Given the description of an element on the screen output the (x, y) to click on. 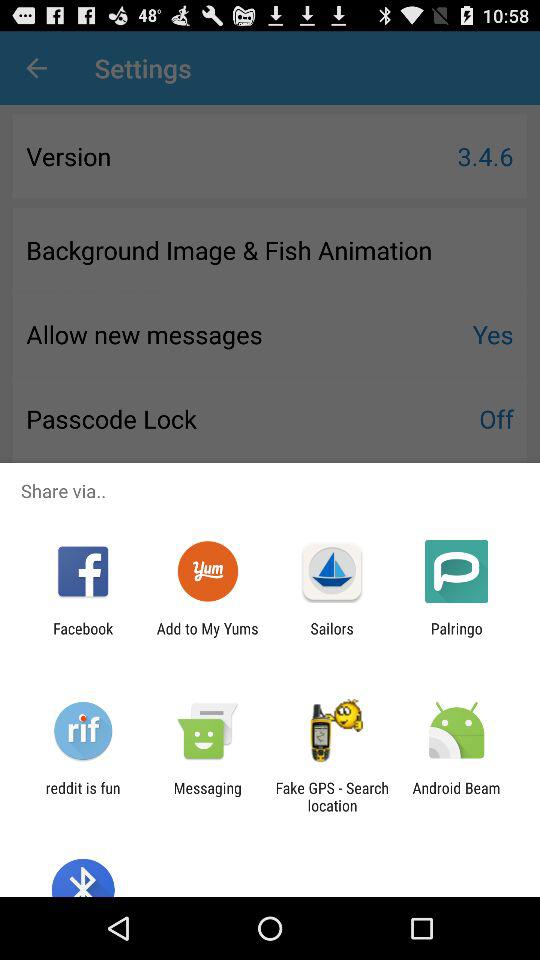
click the facebook icon (83, 637)
